Given the description of an element on the screen output the (x, y) to click on. 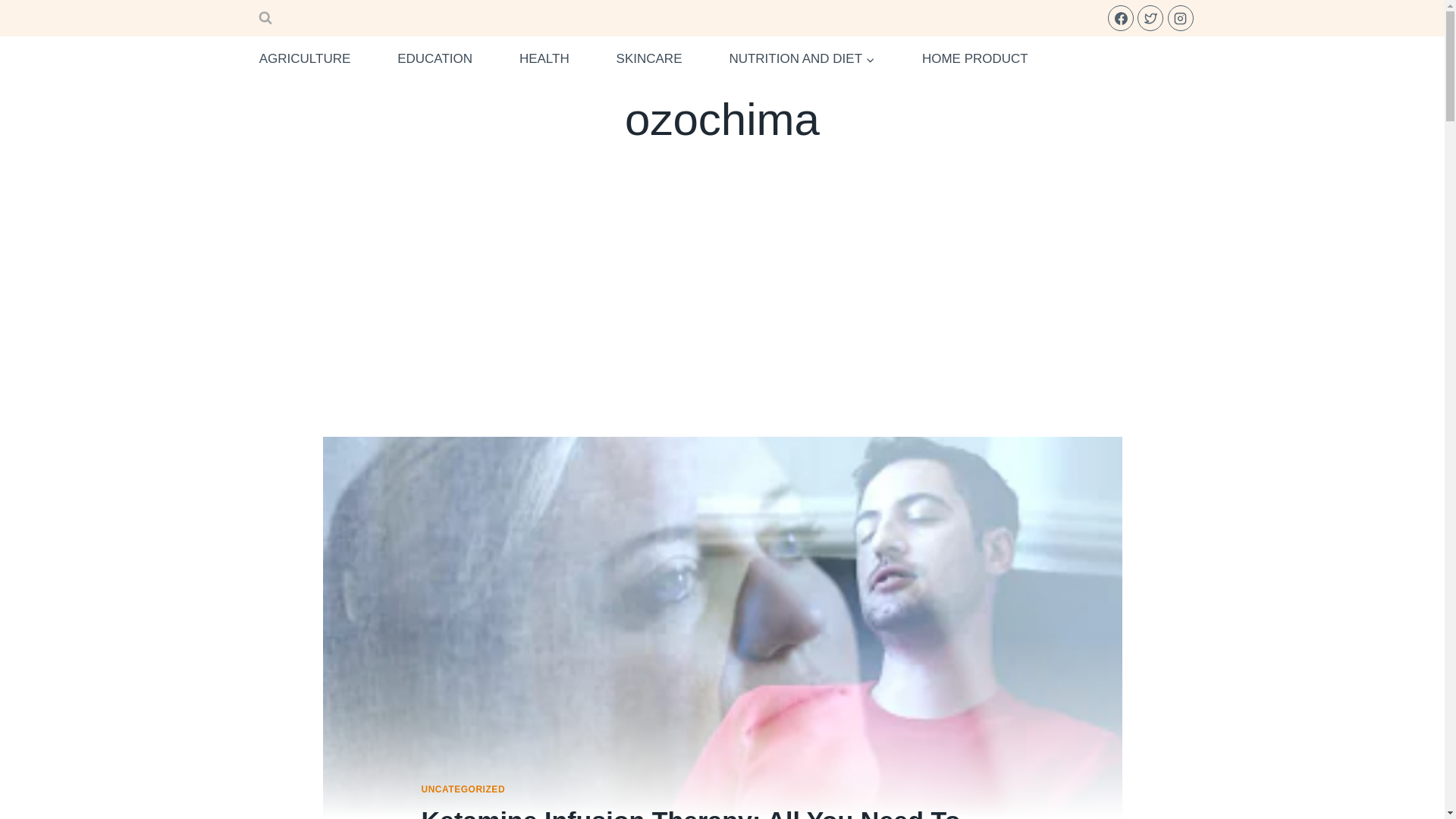
AGRICULTURE (304, 58)
ozochima (721, 119)
UNCATEGORIZED (463, 788)
NUTRITION AND DIET (801, 58)
SKINCARE (648, 58)
EDUCATION (435, 58)
HOME PRODUCT (974, 58)
Advertisement (722, 324)
HEALTH (544, 58)
